Given the description of an element on the screen output the (x, y) to click on. 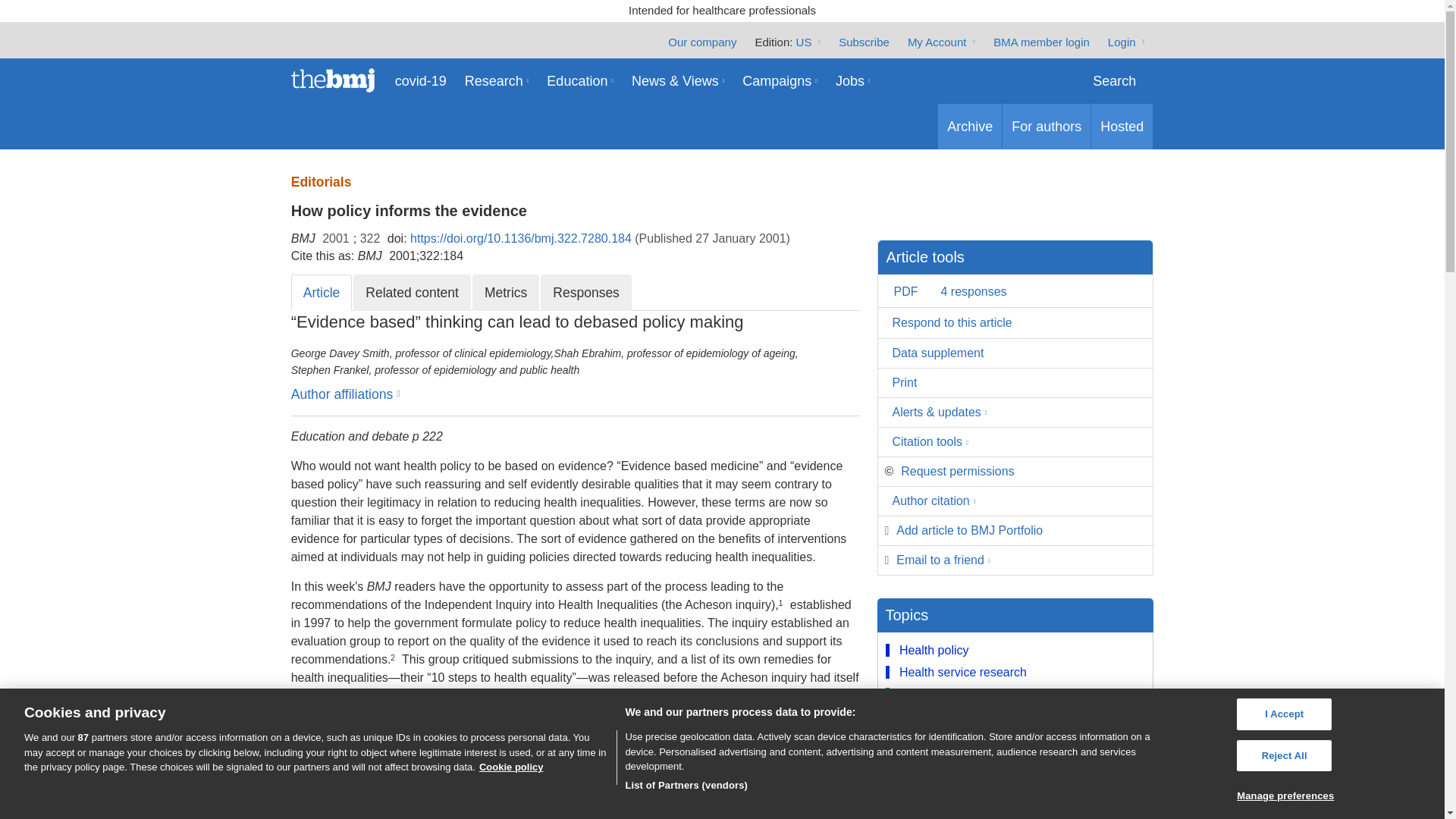
Article Tab - Related Articles (411, 292)
Home (338, 80)
Subscribe (863, 41)
Search (1114, 80)
BMJ Article Related Rapid Responses (585, 292)
Article Tab - Article (321, 292)
Our company (702, 41)
Search (1114, 80)
BMA member login (1040, 41)
Education (580, 80)
The BMJ logo (338, 80)
Research (496, 80)
US (808, 41)
Login (1126, 41)
